Given the description of an element on the screen output the (x, y) to click on. 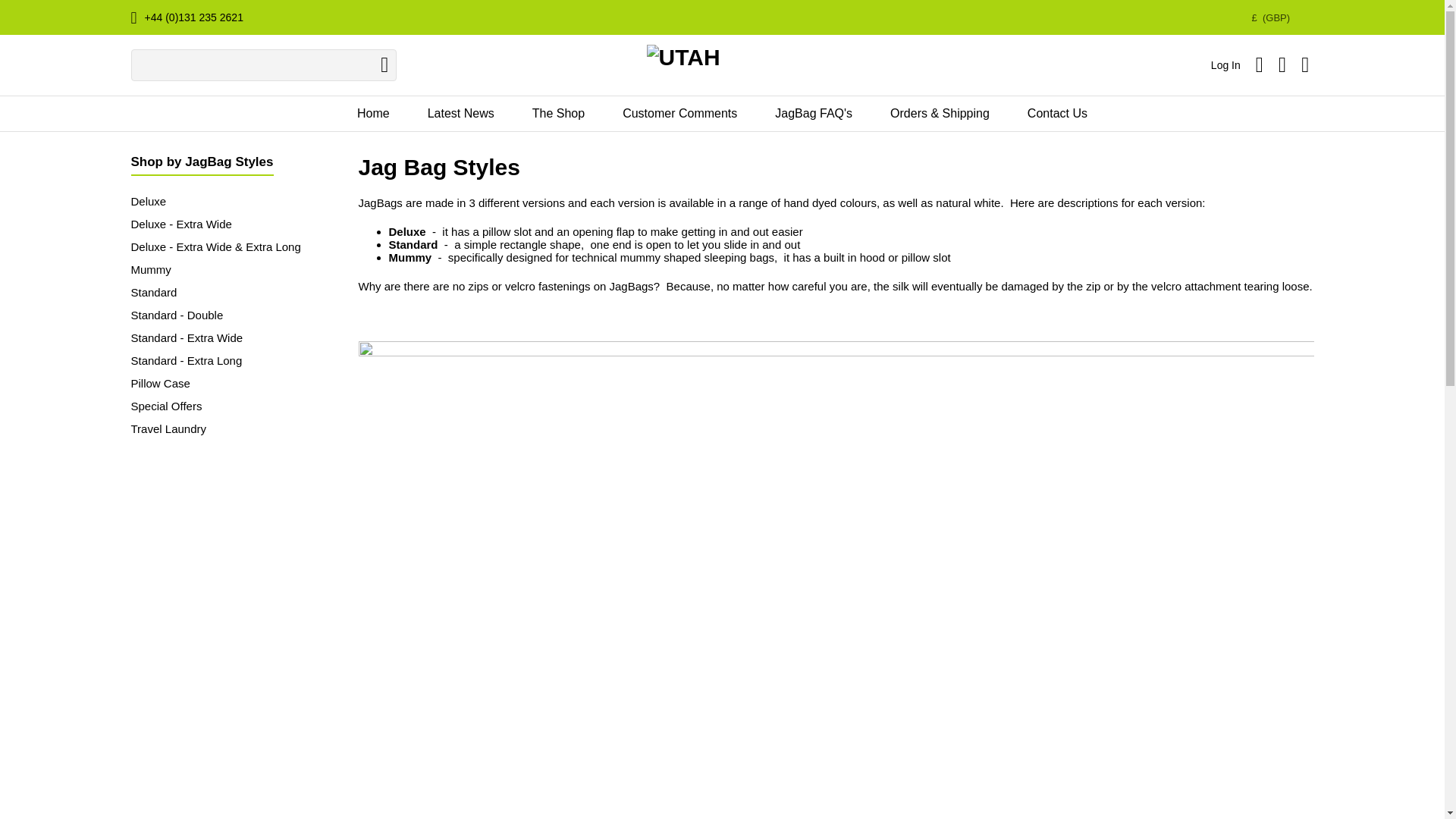
Customer Comments (679, 113)
Pillow Case (160, 382)
Deluxe (148, 201)
Home (373, 113)
Deluxe - Extra Wide (181, 223)
Standard - Double (176, 314)
Standard (153, 291)
Mummy (150, 269)
JagBag FAQ's (812, 113)
Special Offers (166, 405)
